Given the description of an element on the screen output the (x, y) to click on. 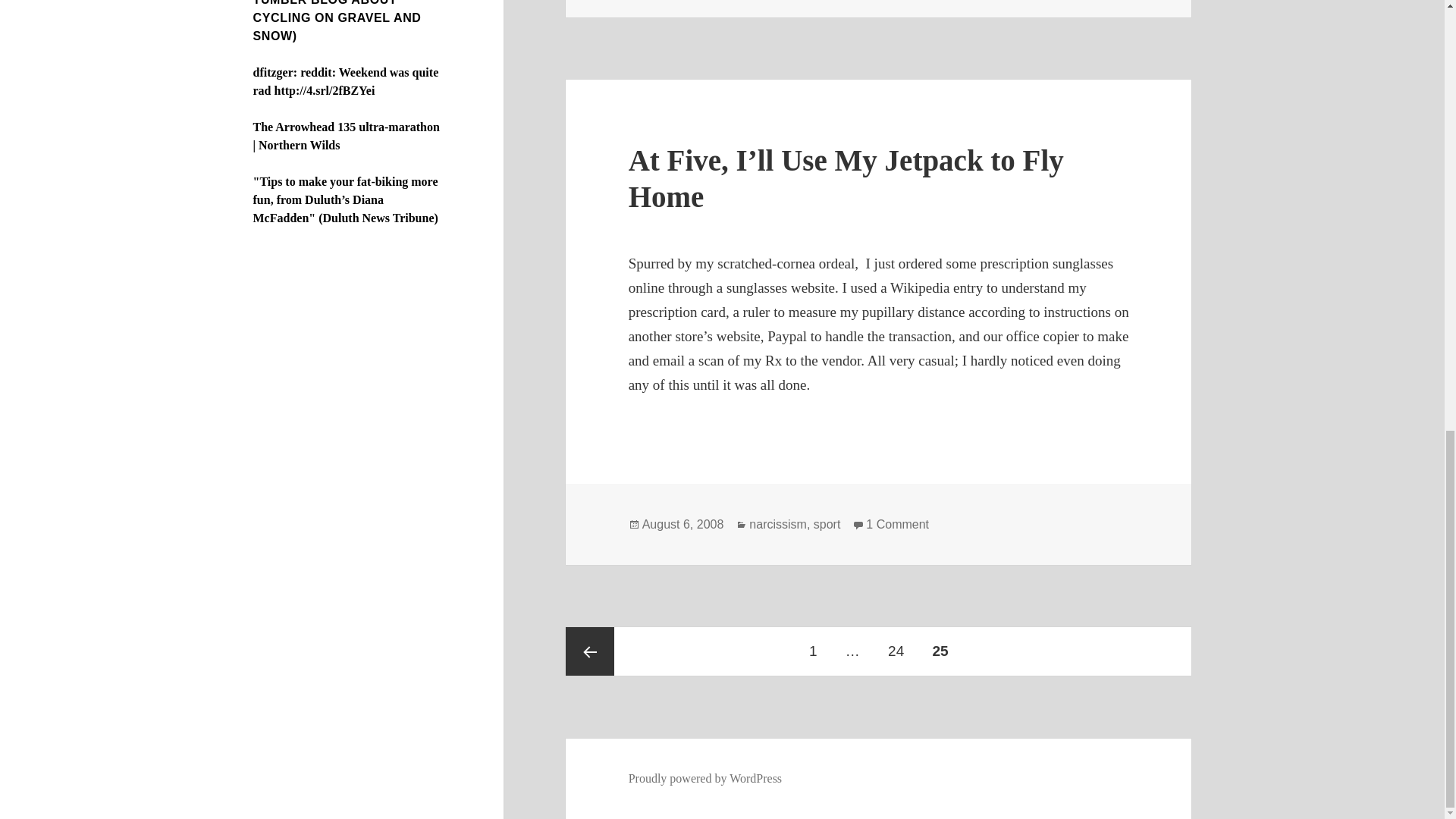
Proudly powered by WordPress (704, 778)
narcissism (777, 524)
August 6, 2008 (682, 524)
Previous page (590, 651)
sport (827, 524)
